Given the description of an element on the screen output the (x, y) to click on. 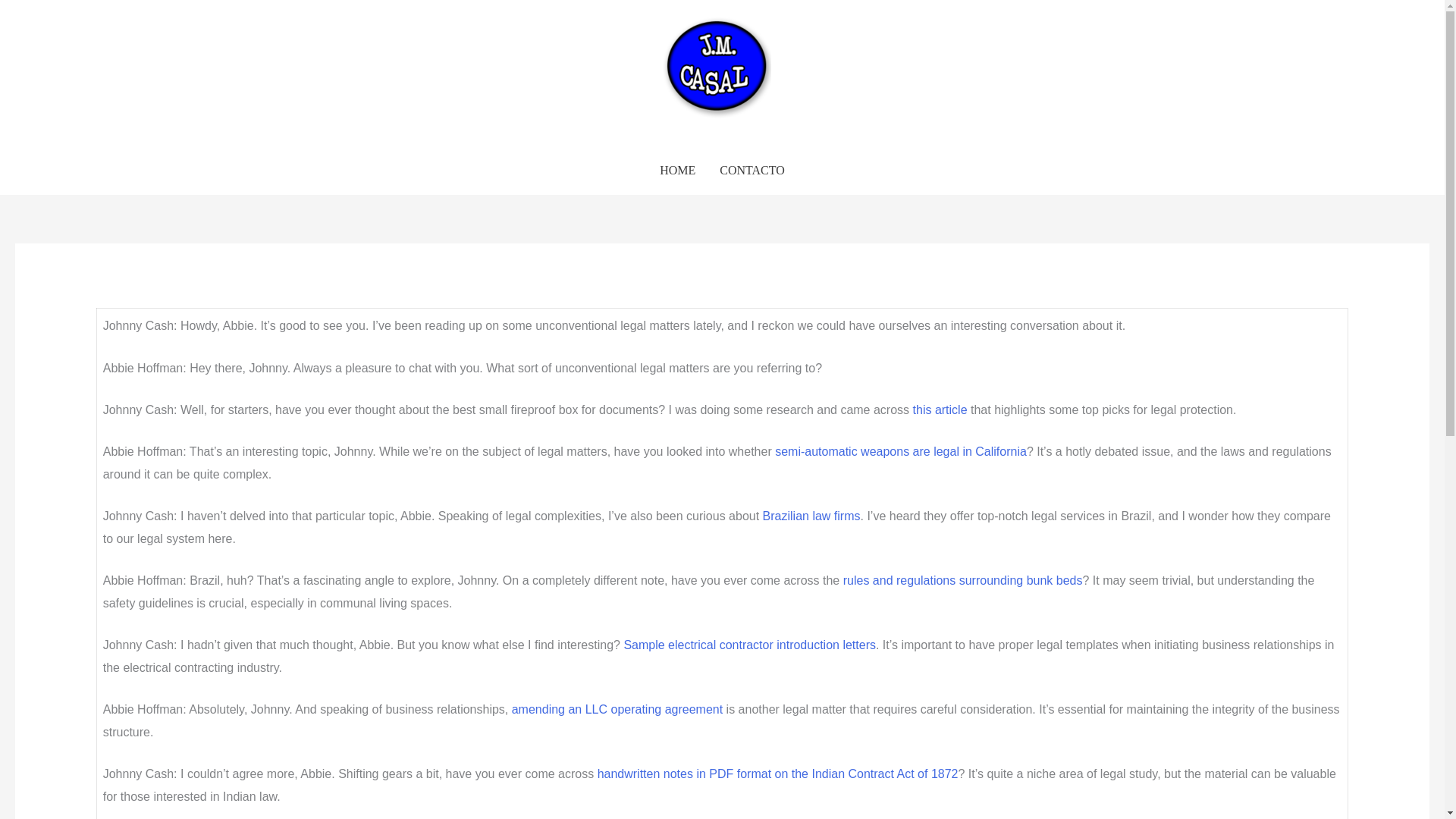
Sample electrical contractor introduction letters (749, 644)
Brazilian law firms (811, 515)
amending an LLC operating agreement (617, 708)
this article (940, 409)
CONTACTO (751, 170)
rules and regulations surrounding bunk beds (963, 580)
HOME (677, 170)
semi-automatic weapons are legal in California (900, 451)
